Given the description of an element on the screen output the (x, y) to click on. 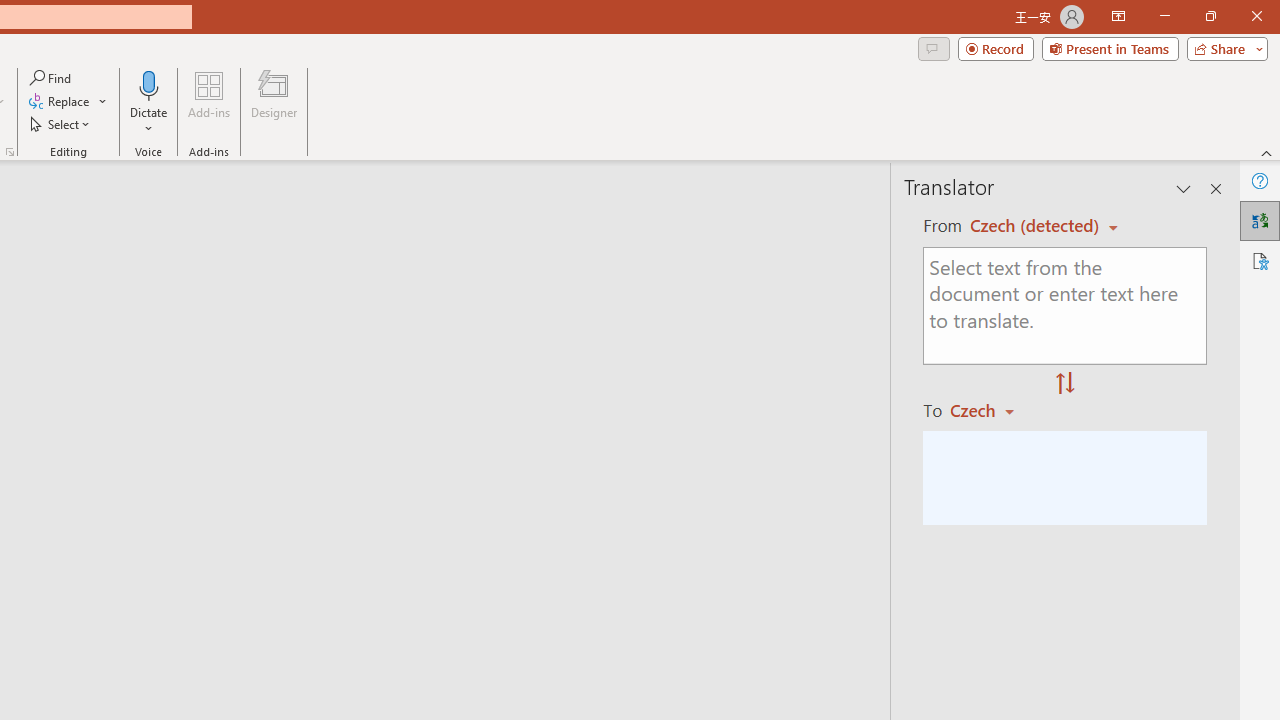
Format Object... (9, 151)
More Options (149, 121)
Dictate (149, 102)
Comments (933, 48)
Replace... (68, 101)
Close pane (1215, 188)
Collapse the Ribbon (1267, 152)
Swap "from" and "to" languages. (1065, 383)
Replace... (60, 101)
Translator (1260, 220)
Czech (detected) (1037, 225)
Ribbon Display Options (1118, 16)
Help (1260, 180)
Czech (991, 409)
